Given the description of an element on the screen output the (x, y) to click on. 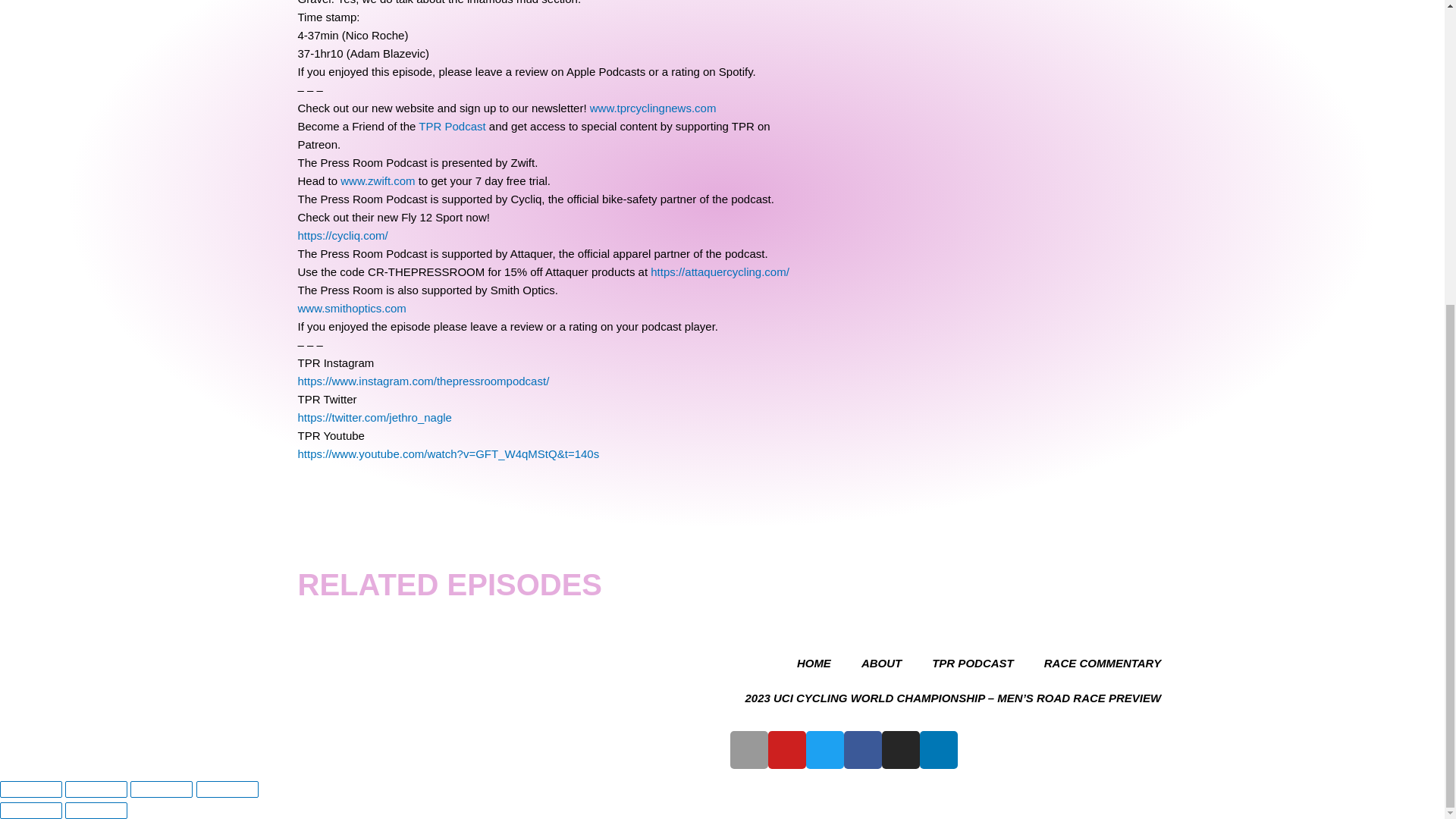
TPR Podcast (451, 125)
www.tprcyclingnews.com (652, 107)
www.zwift.com (375, 180)
www.smithoptics.com (351, 308)
